Given the description of an element on the screen output the (x, y) to click on. 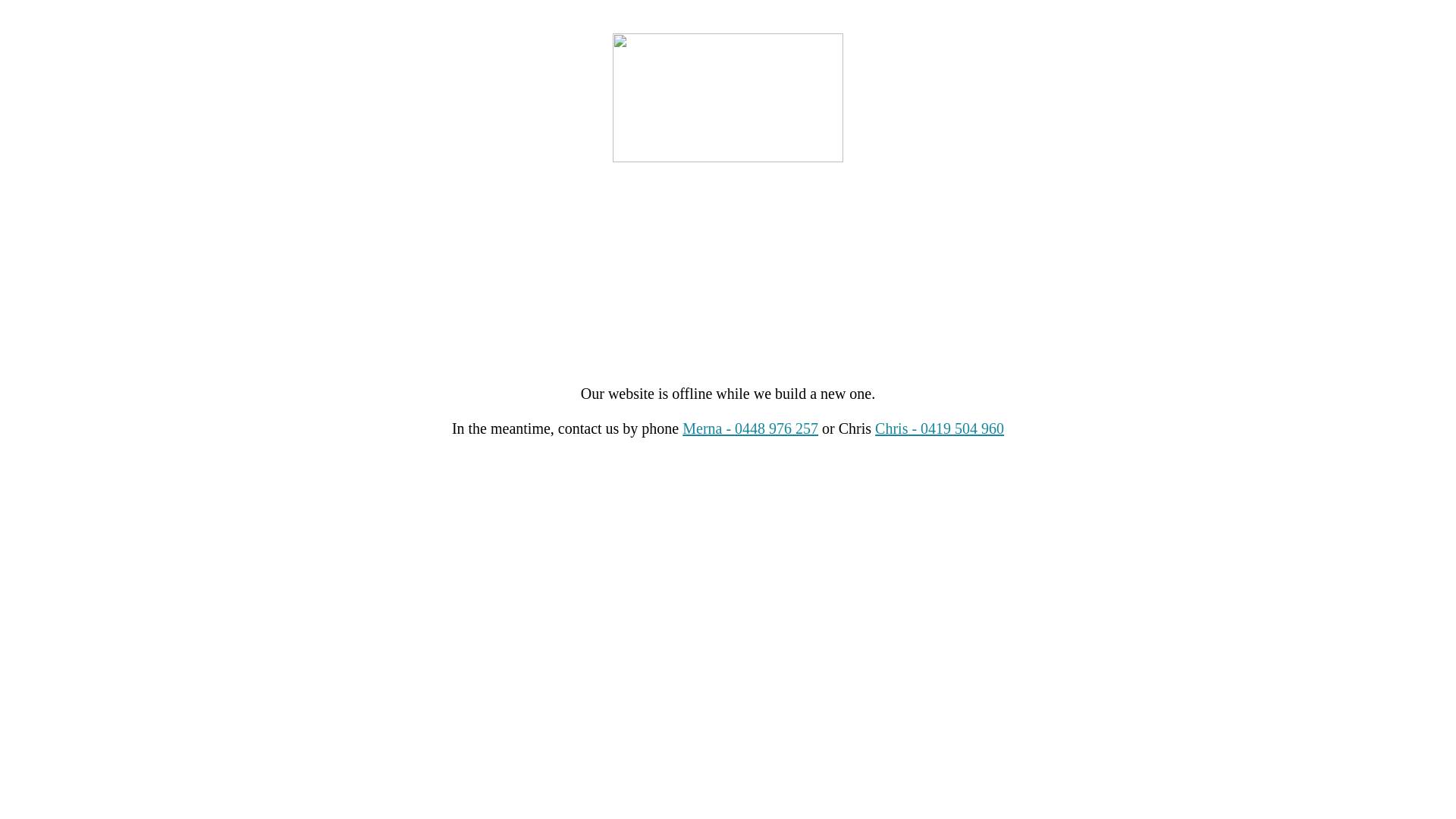
Chris - 0419 504 960 Element type: text (939, 428)
Merna - 0448 976 257 Element type: text (750, 428)
